Given the description of an element on the screen output the (x, y) to click on. 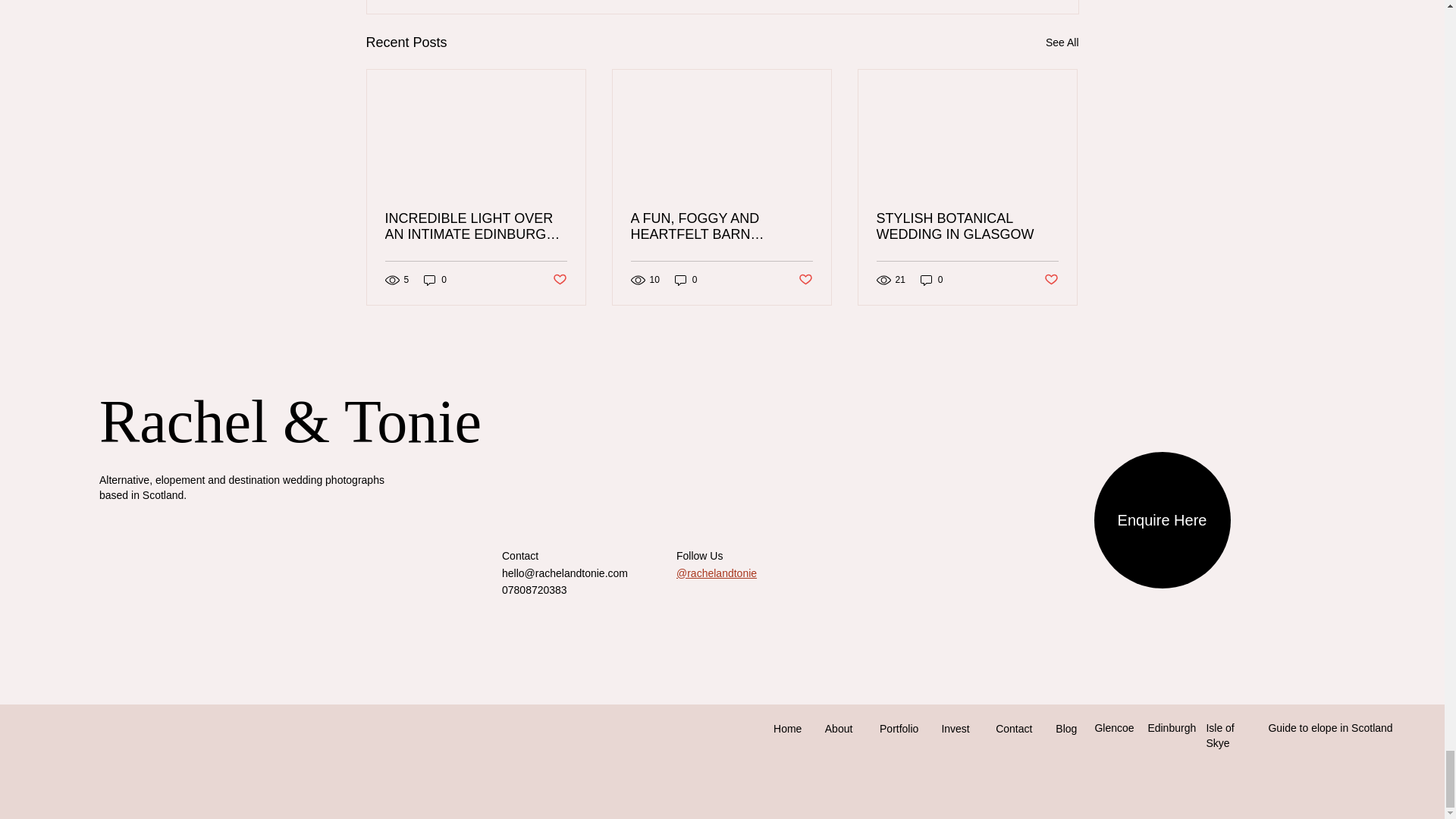
0 (931, 279)
STYLISH BOTANICAL WEDDING IN GLASGOW (967, 226)
INCREDIBLE LIGHT OVER AN INTIMATE EDINBURGH ELOPEMENT (476, 226)
Post not marked as liked (1050, 279)
0 (435, 279)
Invest (954, 728)
Home (786, 728)
Portfolio (896, 728)
Post not marked as liked (804, 279)
Post not marked as liked (558, 279)
